Given the description of an element on the screen output the (x, y) to click on. 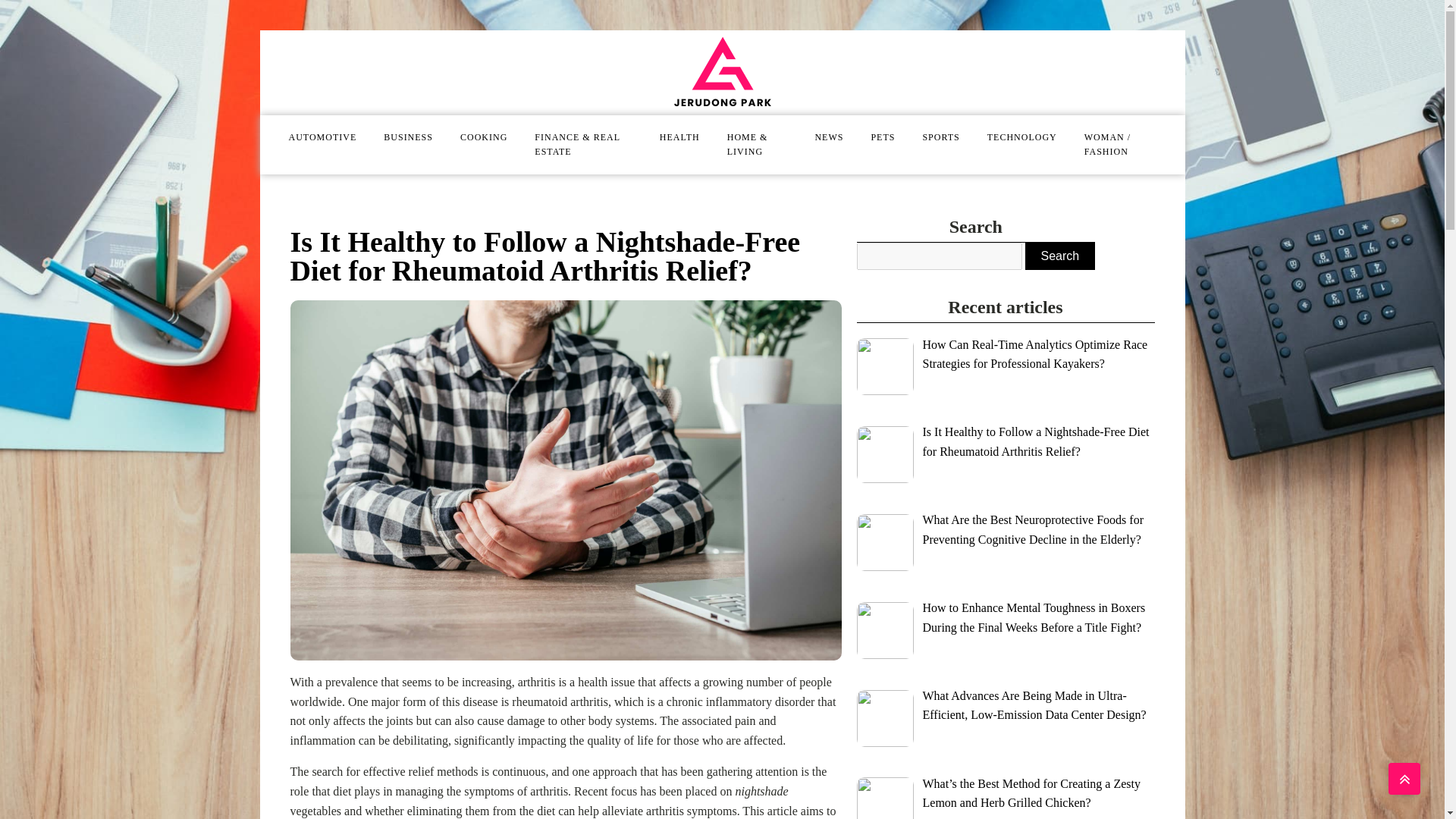
AUTOMOTIVE (322, 137)
NEWS (828, 137)
HEALTH (679, 137)
BUSINESS (407, 137)
SPORTS (940, 137)
PETS (882, 137)
COOKING (483, 137)
